Given the description of an element on the screen output the (x, y) to click on. 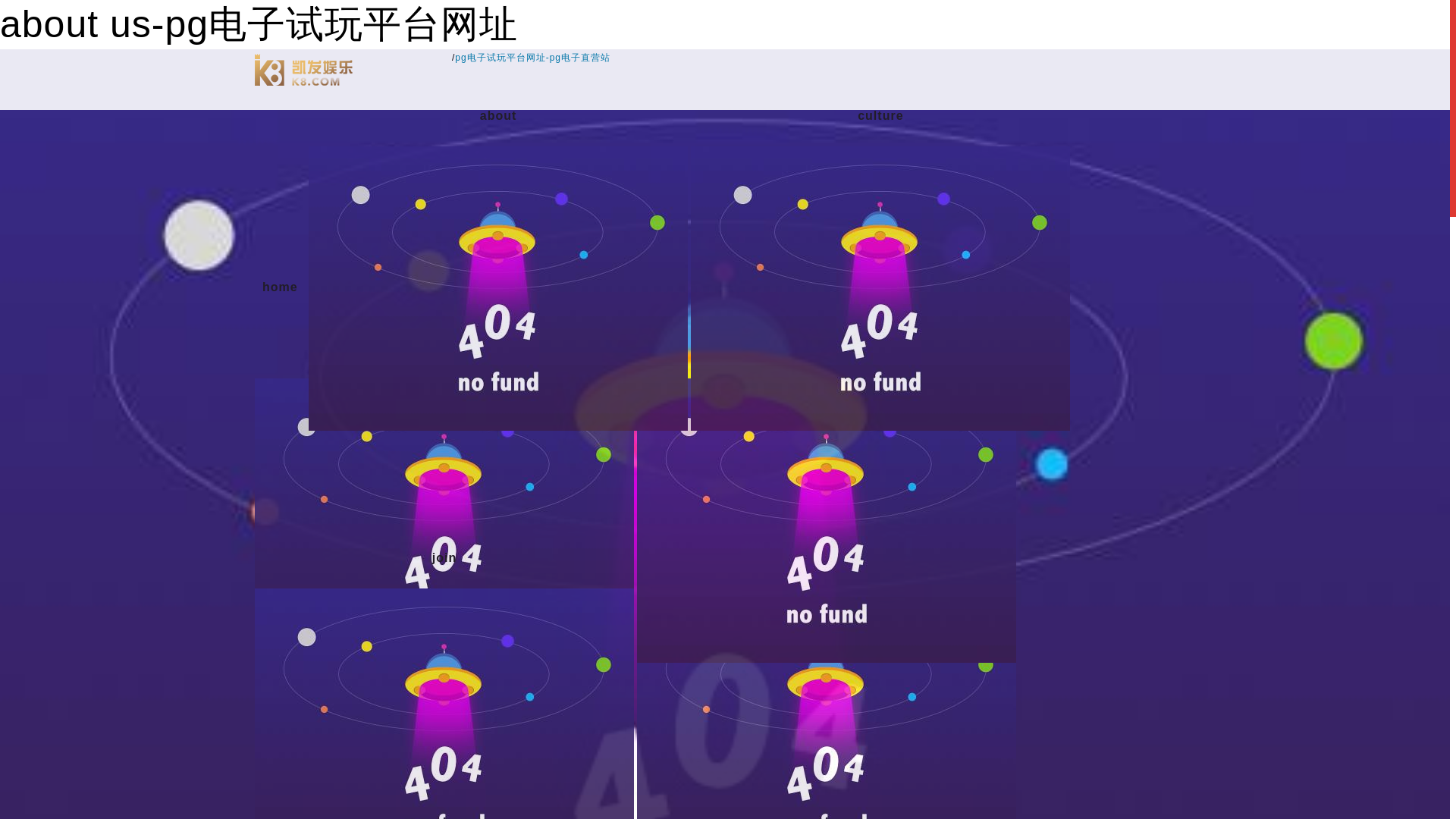
strategic (443, 347)
news (826, 347)
culture (880, 115)
contact (826, 557)
join (443, 557)
about (497, 115)
